Given the description of an element on the screen output the (x, y) to click on. 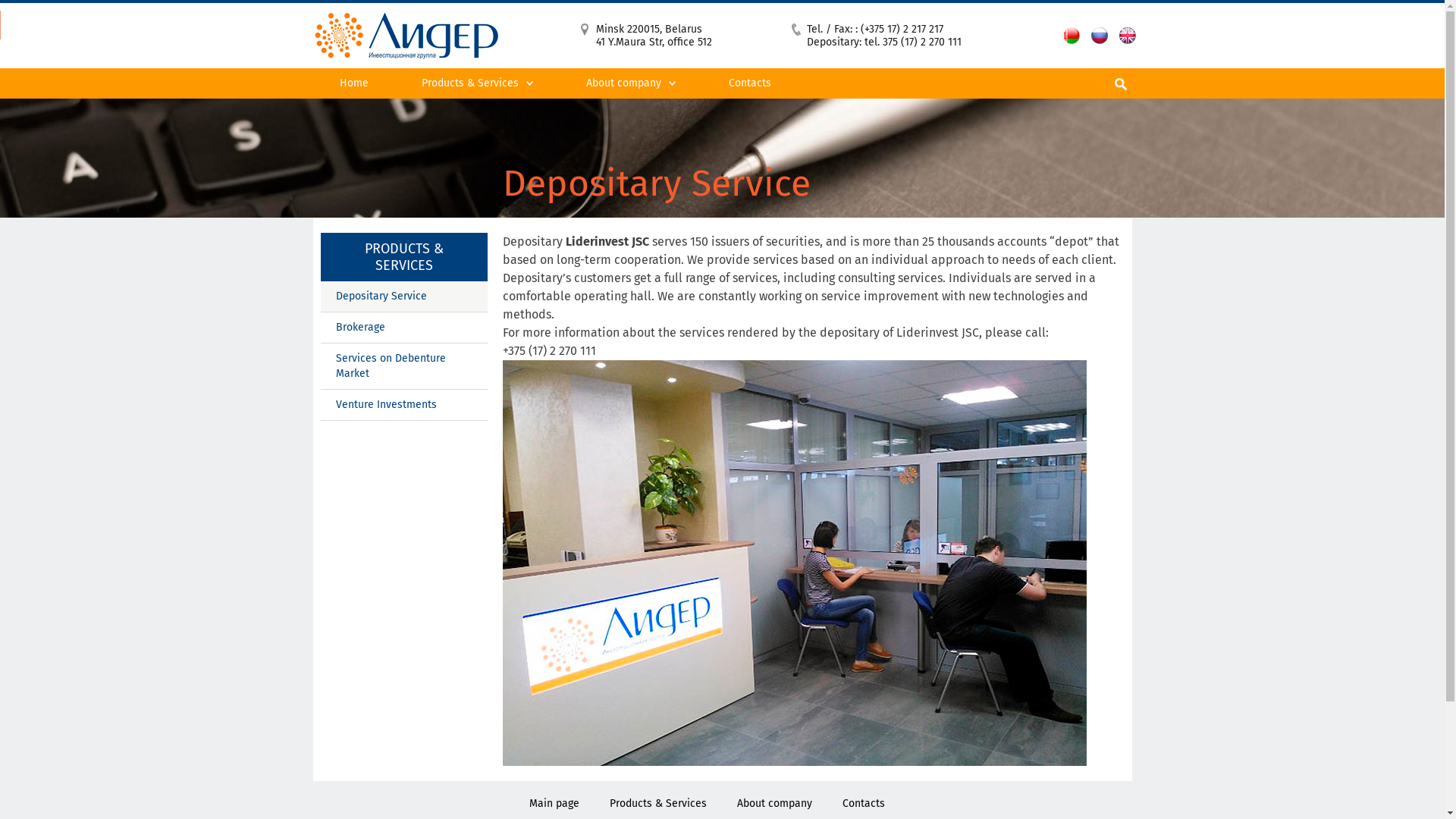
Depositary Service Element type: text (476, 113)
Depositary Service Element type: text (403, 296)
Products & Services Element type: text (476, 83)
About company Element type: text (774, 803)
Contacts Element type: text (863, 803)
Services on Debenture Market Element type: text (476, 117)
Brokerage Element type: text (403, 327)
About company Element type: text (630, 83)
Products & Services Element type: text (657, 803)
Home Element type: text (353, 83)
Contacts Element type: text (749, 83)
Main page Element type: text (554, 803)
Venture Investments Element type: text (403, 404)
Services on Debenture Market Element type: text (403, 366)
Main info Element type: text (630, 113)
